Given the description of an element on the screen output the (x, y) to click on. 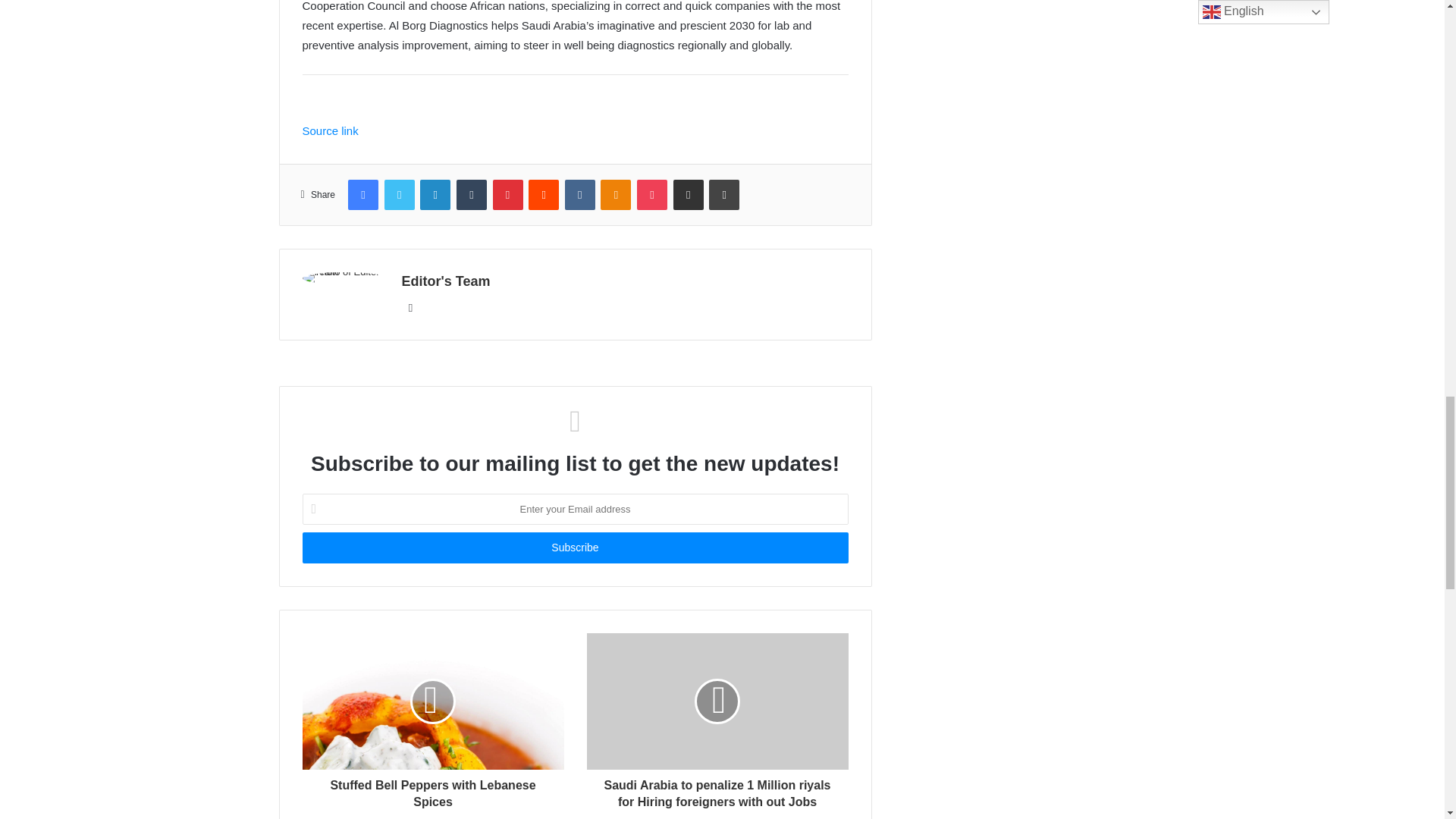
Subscribe (574, 547)
Source link (329, 130)
